Given the description of an element on the screen output the (x, y) to click on. 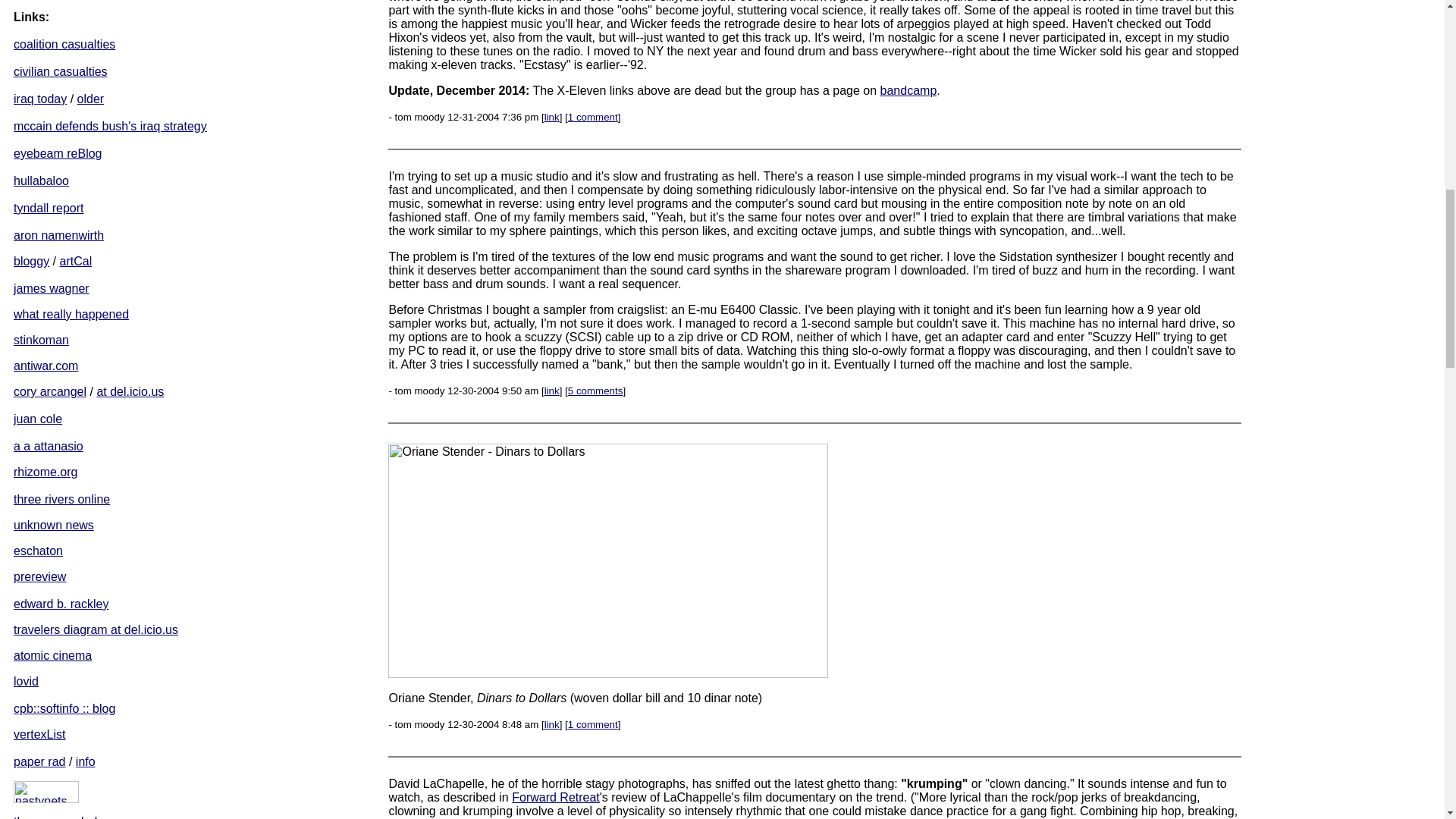
civilian casualties (60, 71)
aron namenwirth (58, 235)
coalition casualties (64, 43)
iraq today (39, 98)
older (90, 98)
tyndall report (48, 207)
mccain defends bush's iraq strategy (109, 125)
hullabaloo (40, 180)
eyebeam reBlog (57, 153)
